Given the description of an element on the screen output the (x, y) to click on. 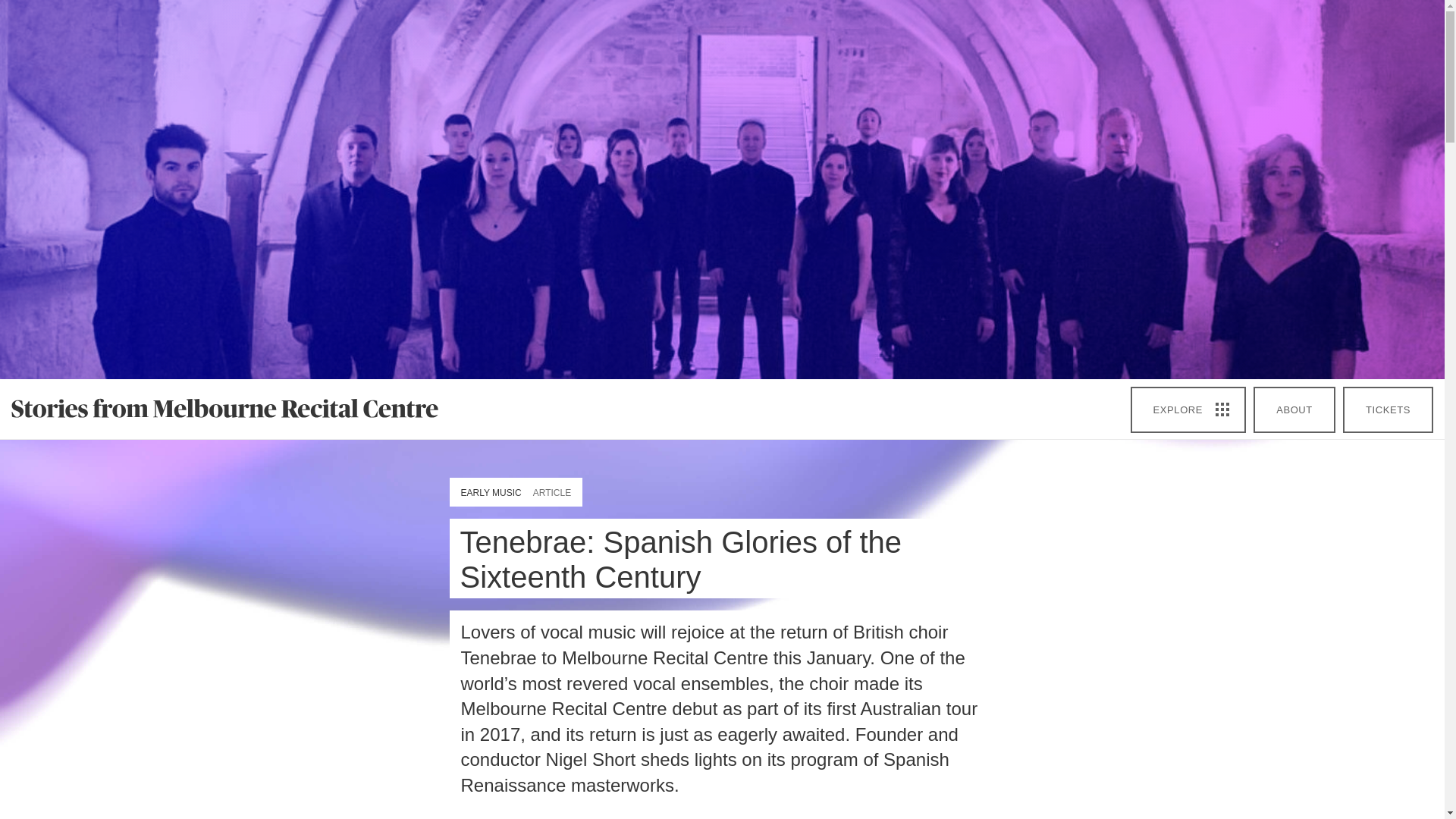
TERMS OF USE (815, 729)
TICKETS (1387, 409)
ABOUT (1294, 409)
CONTACT US (591, 729)
PRIVACY POLICY (1050, 729)
ARTICLE (551, 492)
ABOUT US (378, 729)
EXPLORE (1188, 409)
EARLY MUSIC (491, 492)
